Given the description of an element on the screen output the (x, y) to click on. 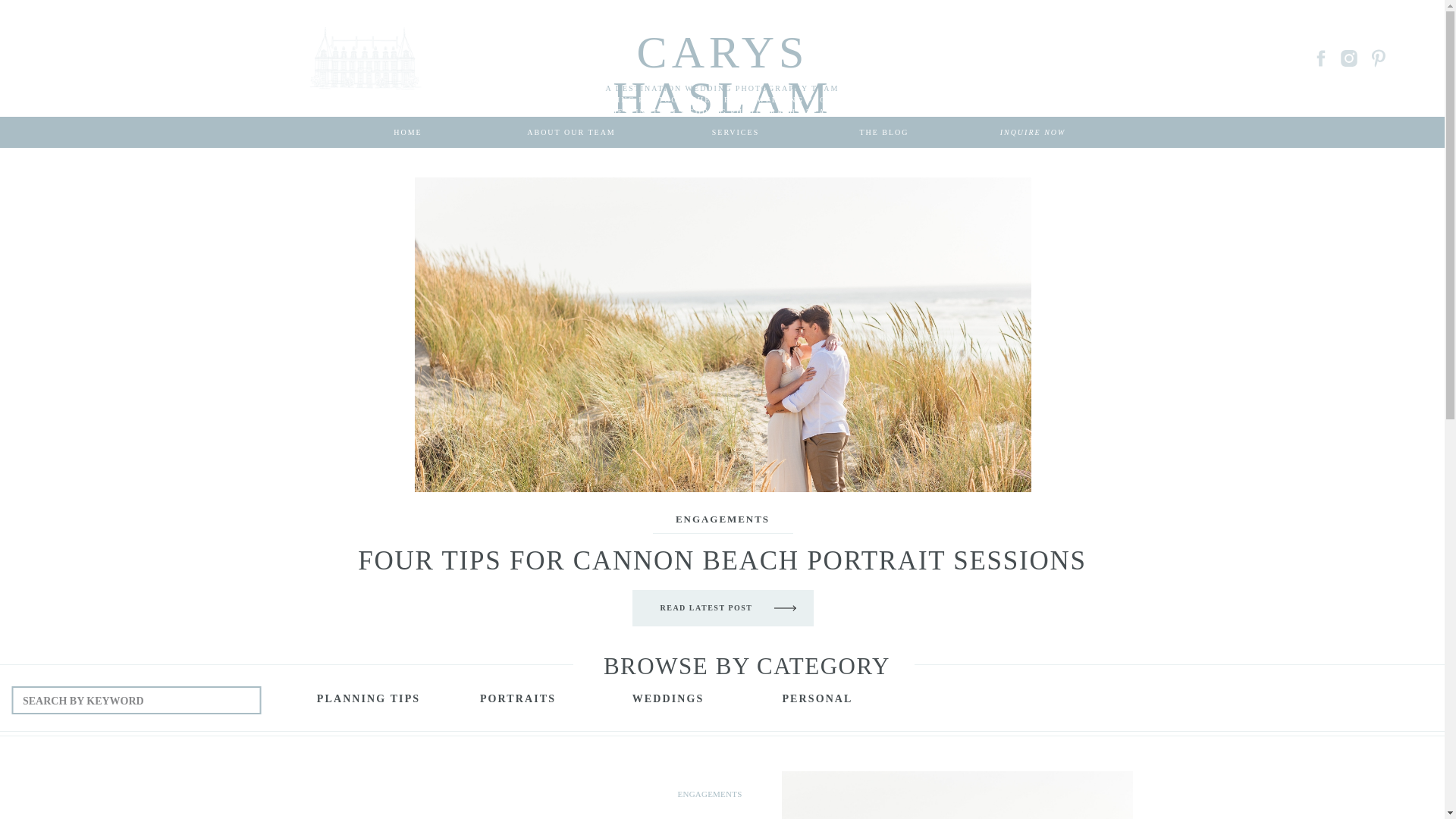
PLANNING TIPS (367, 701)
FOUR TIPS FOR CANNON BEACH PORTRAIT SESSIONS (722, 560)
Four Tips for Cannon Beach Portrait Sessions (705, 611)
PERSONAL (817, 701)
PORTRAITS (517, 701)
CARYS HASLAM (721, 41)
ABOUT OUR TEAM (571, 132)
INQUIRE NOW (1032, 132)
HOME (408, 132)
WEDDINGS (667, 701)
A DESTINATION WEDDING PHOTOGRAPHY TEAM (722, 88)
THE BLOG (884, 132)
SERVICES (735, 132)
